Given the description of an element on the screen output the (x, y) to click on. 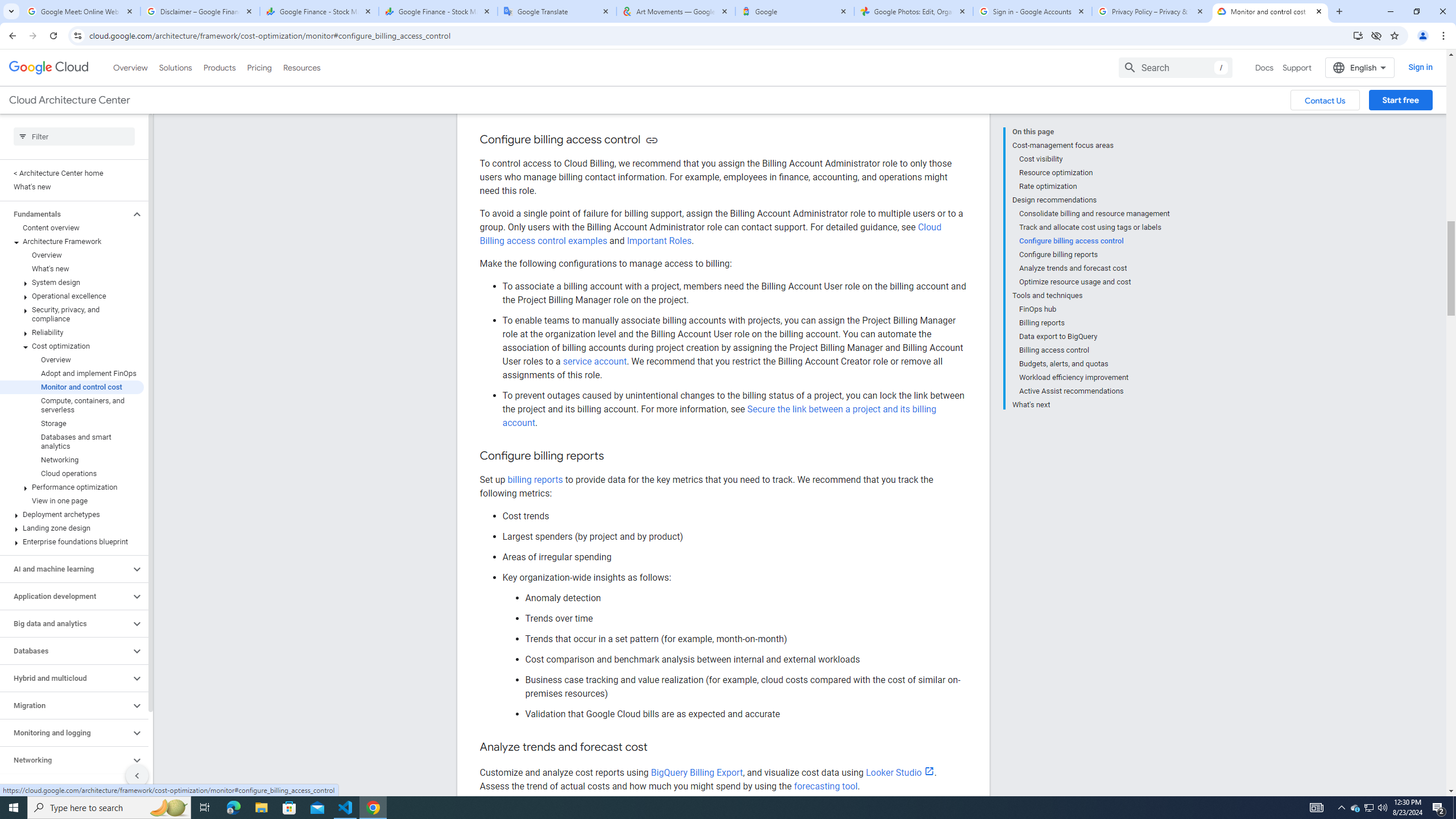
billing reports (534, 479)
forecasting tool (825, 785)
Docs, selected (1264, 67)
Secure the link between a project and its billing account (719, 415)
Content overview (72, 228)
Cloud Asset Inventory (719, 49)
Cost visibility (1094, 159)
Resource optimization (1094, 172)
Cloud Billing access control examples (710, 233)
